Given the description of an element on the screen output the (x, y) to click on. 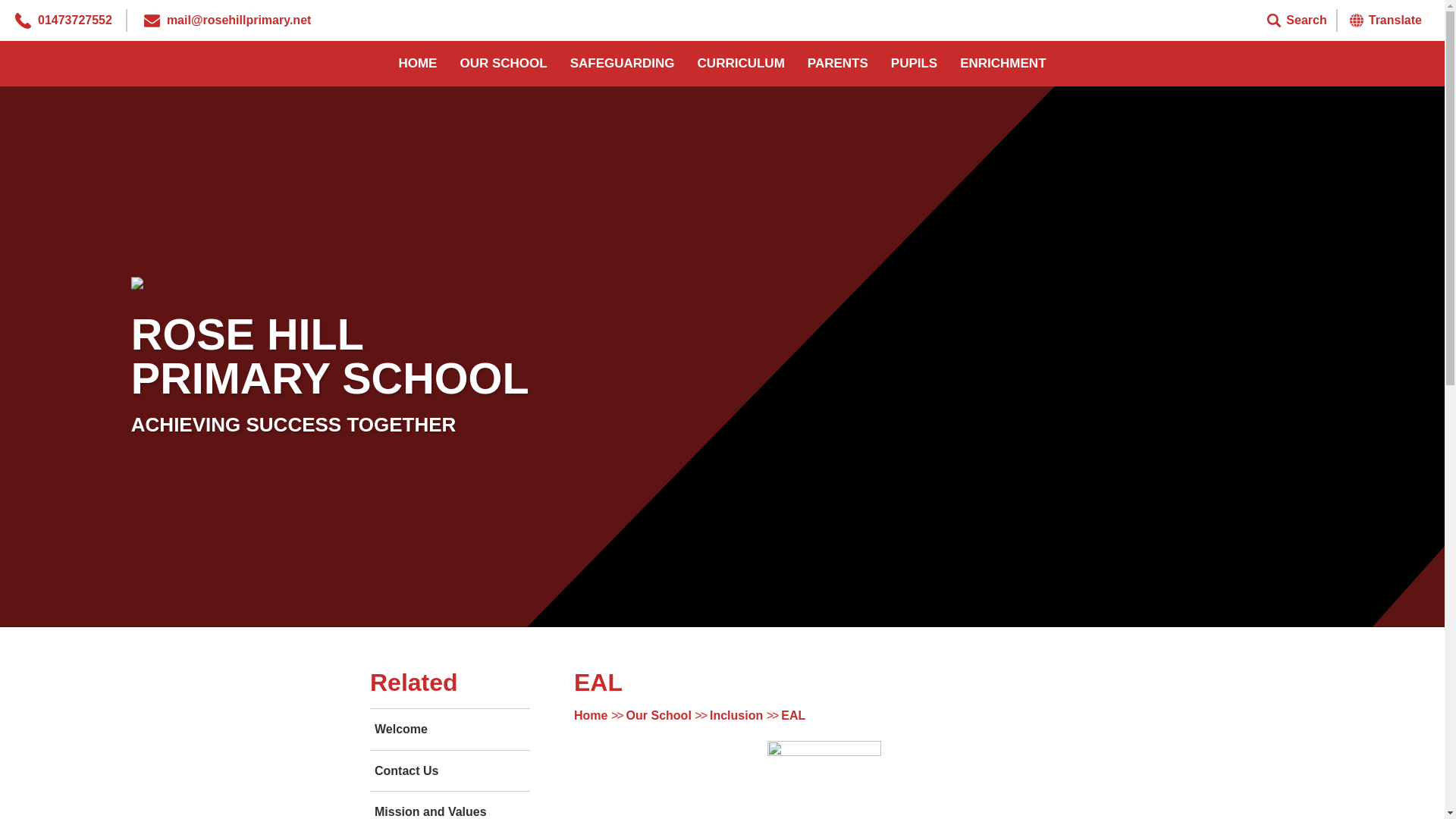
CURRICULUM (740, 63)
SAFEGUARDING (622, 63)
Home Page (204, 287)
01473727552 (74, 19)
OUR SCHOOL (502, 63)
HOME (417, 63)
